Given the description of an element on the screen output the (x, y) to click on. 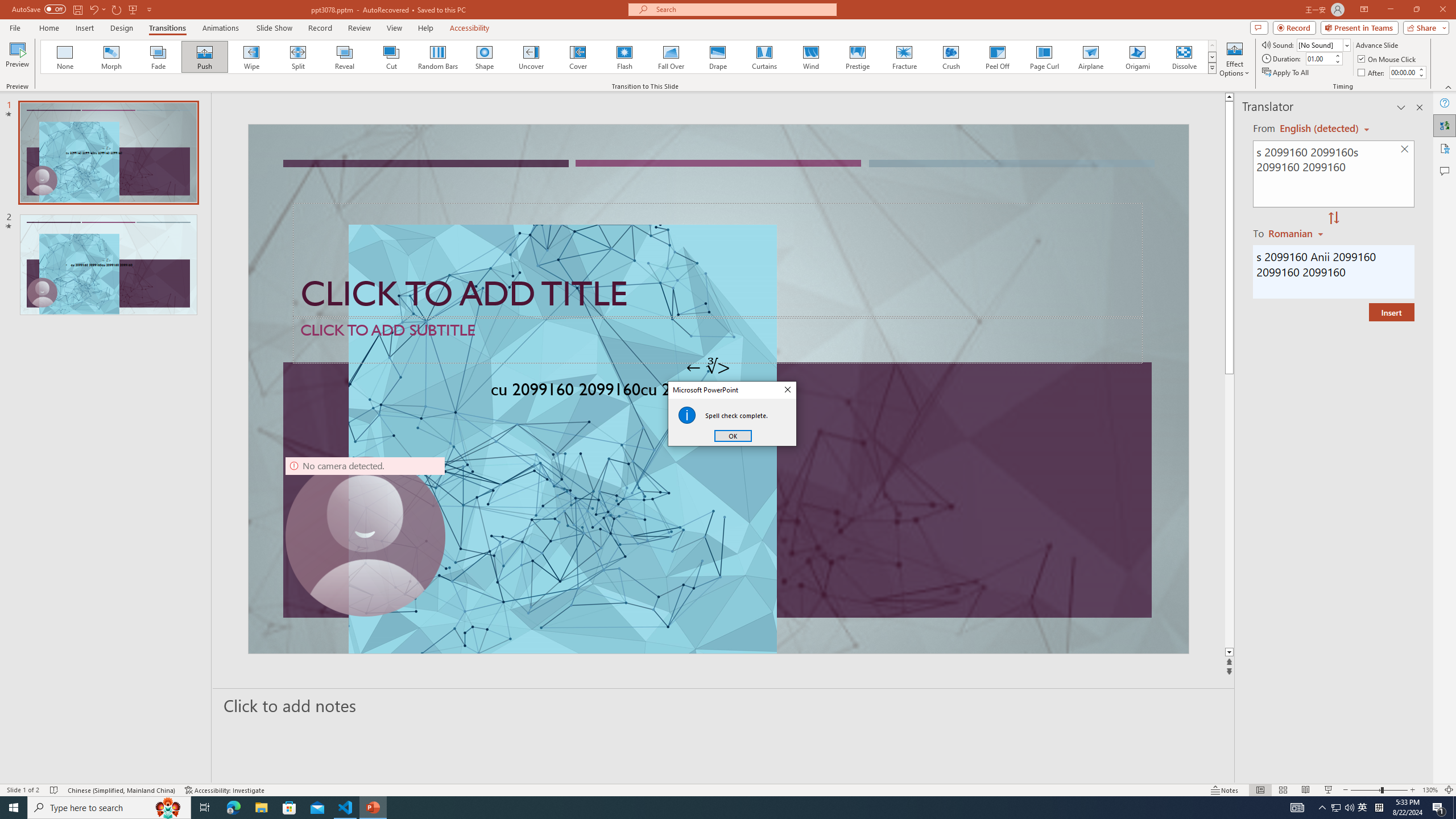
On Mouse Click (1387, 58)
After (1403, 72)
Shape (484, 56)
Romanian (1296, 232)
Airplane (1090, 56)
